Given the description of an element on the screen output the (x, y) to click on. 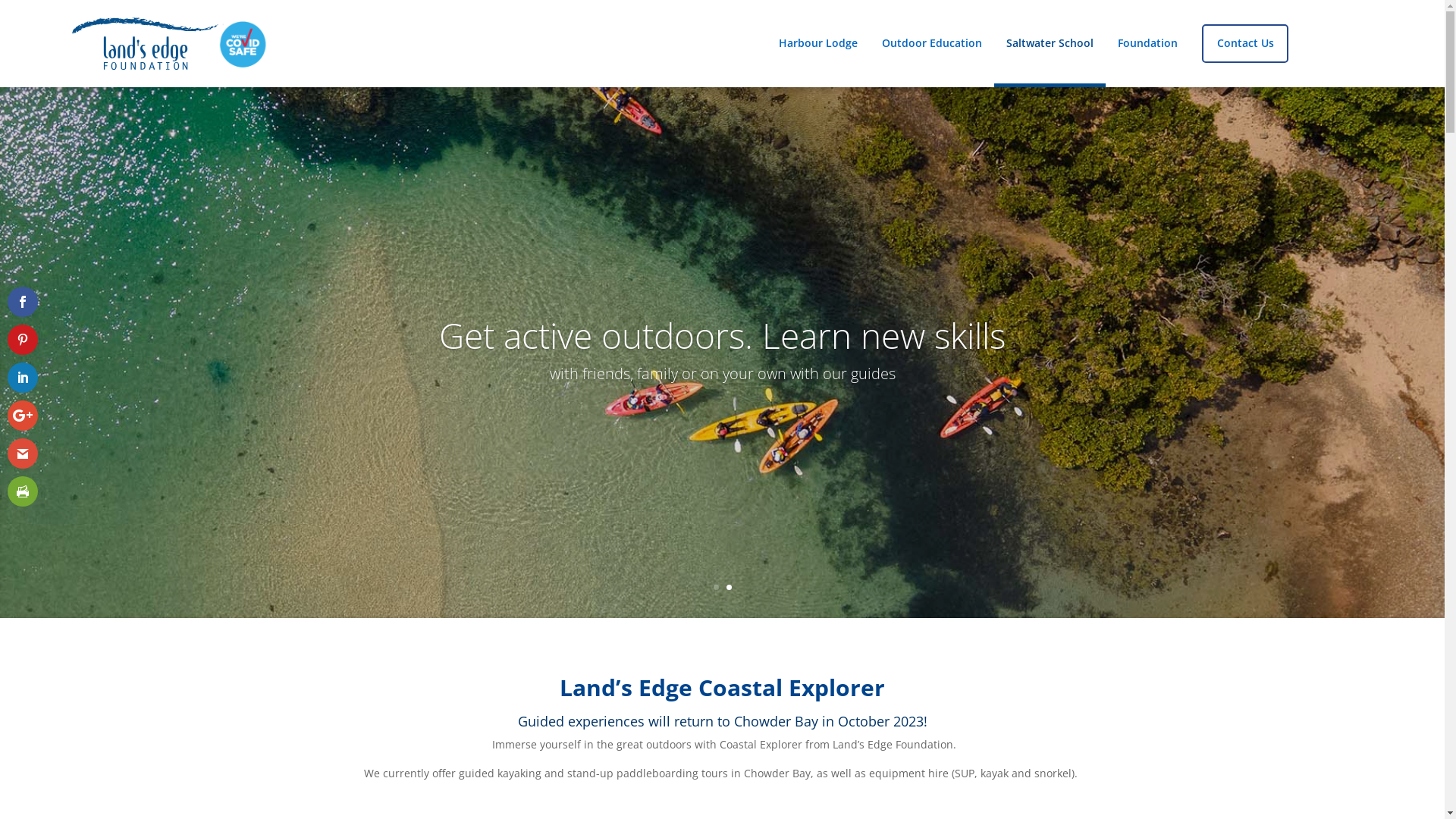
Contact Us Element type: text (1244, 43)
1 Element type: text (715, 586)
Foundation Element type: text (1147, 43)
2 Element type: text (728, 586)
Outdoor Education Element type: text (931, 43)
Harbour Lodge Element type: text (817, 43)
Saltwater School Element type: text (1049, 43)
Get active outdoors. Learn new skills Element type: text (722, 334)
